Given the description of an element on the screen output the (x, y) to click on. 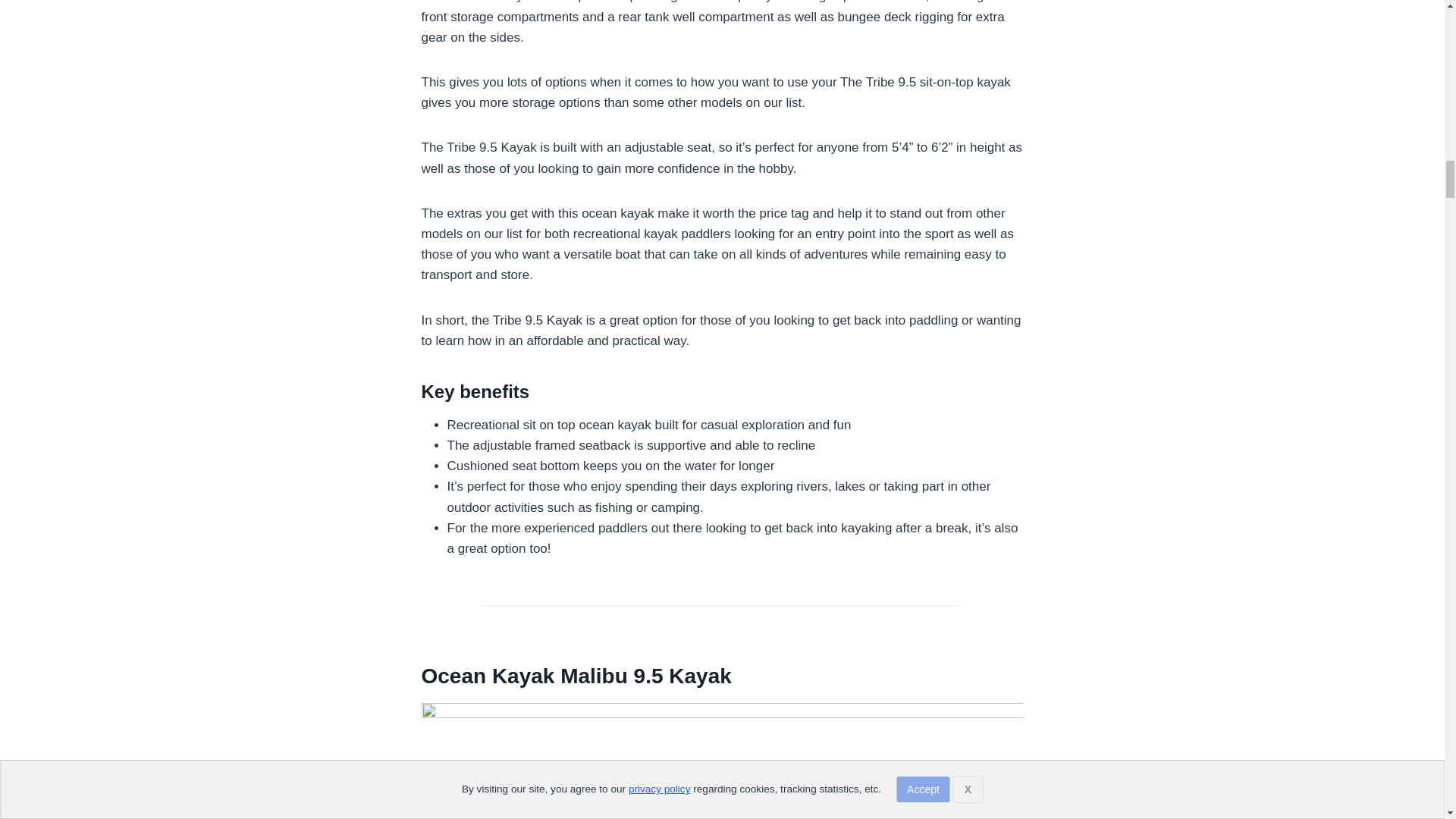
Ocean Kayak Malibu 9.5 Kayak (577, 675)
